Given the description of an element on the screen output the (x, y) to click on. 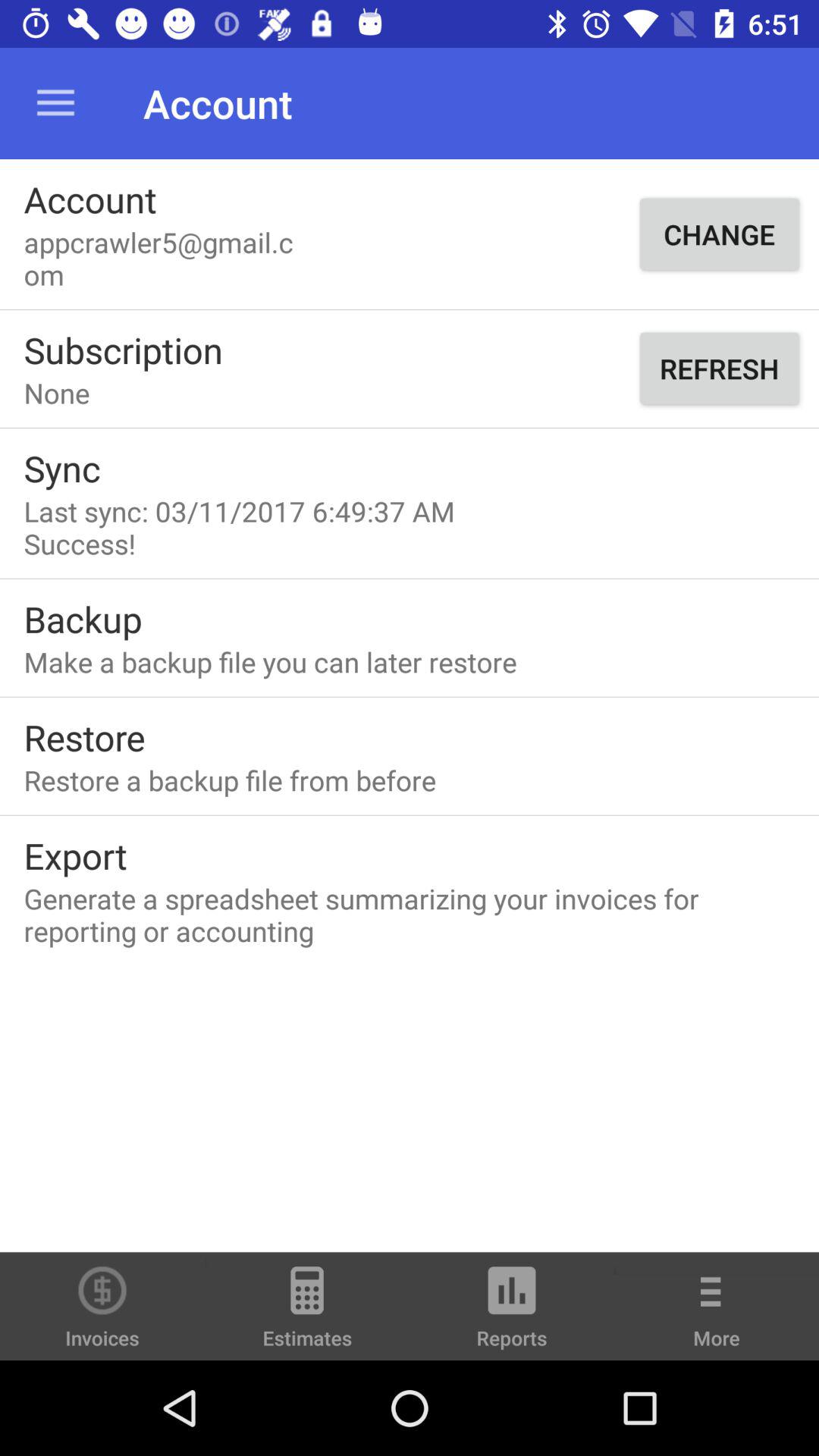
open icon to the right of reports item (716, 1317)
